Given the description of an element on the screen output the (x, y) to click on. 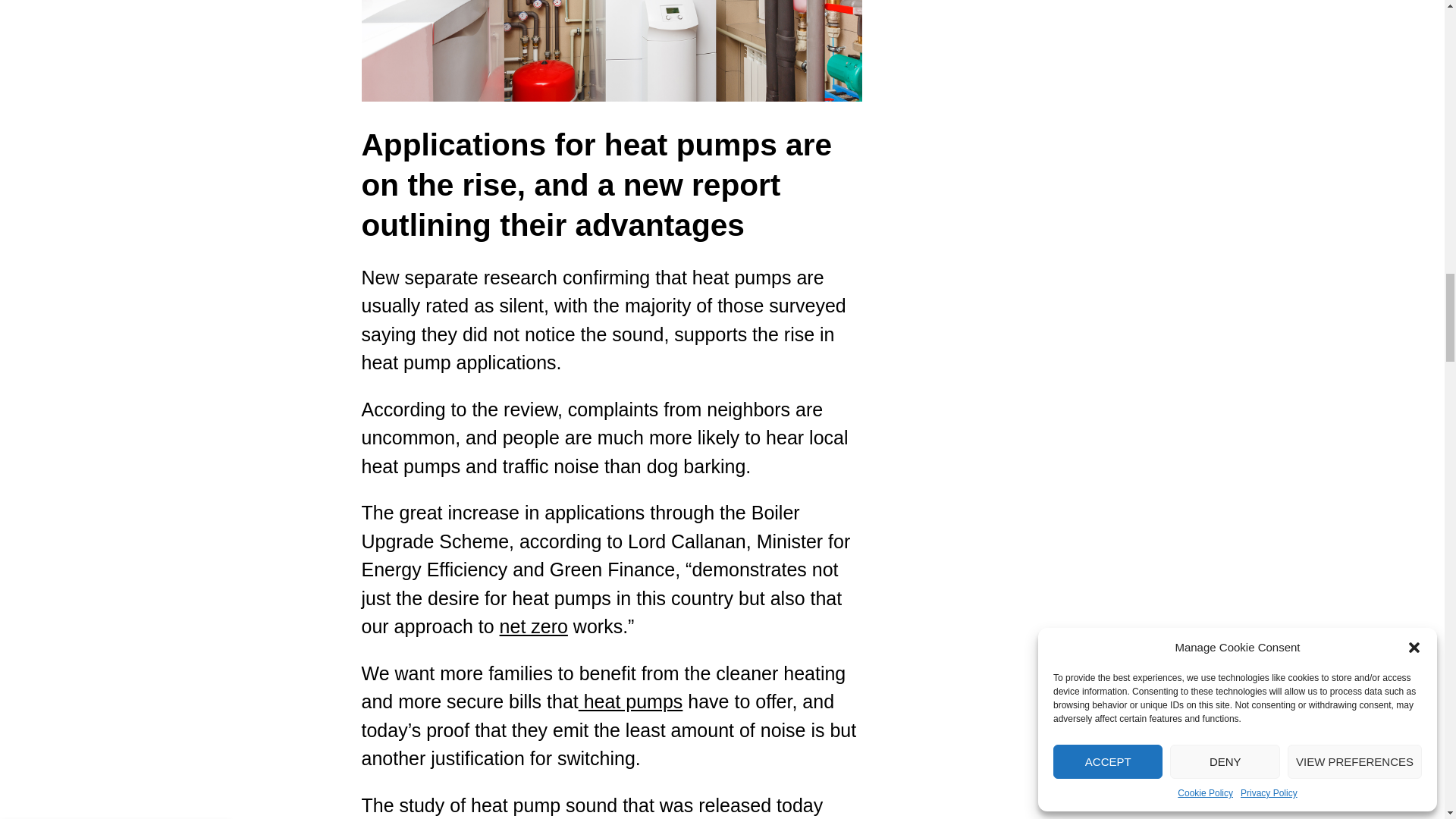
heat pumps (630, 701)
net zero (533, 626)
